Given the description of an element on the screen output the (x, y) to click on. 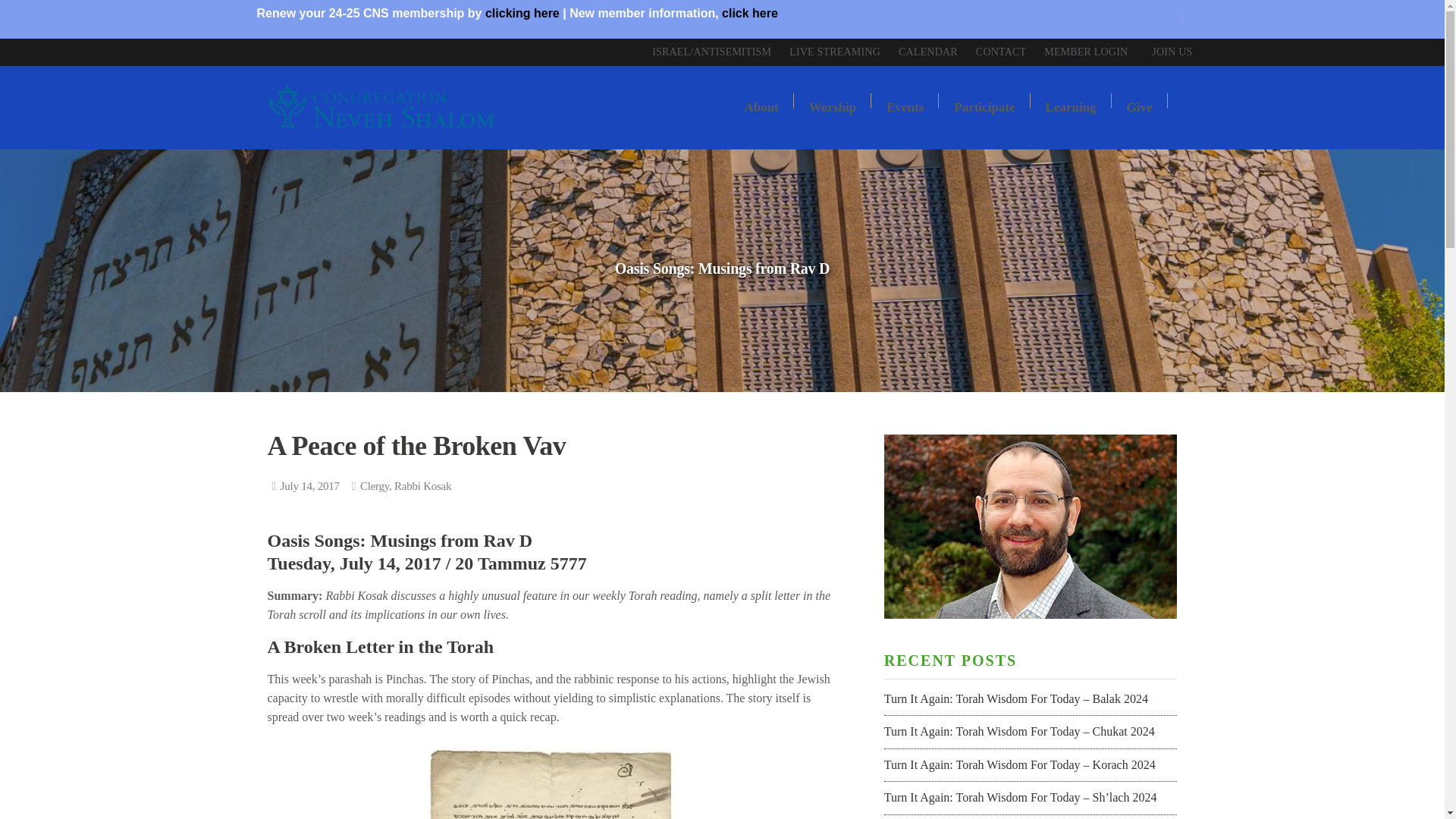
click here (749, 12)
clicking here (521, 12)
